Given the description of an element on the screen output the (x, y) to click on. 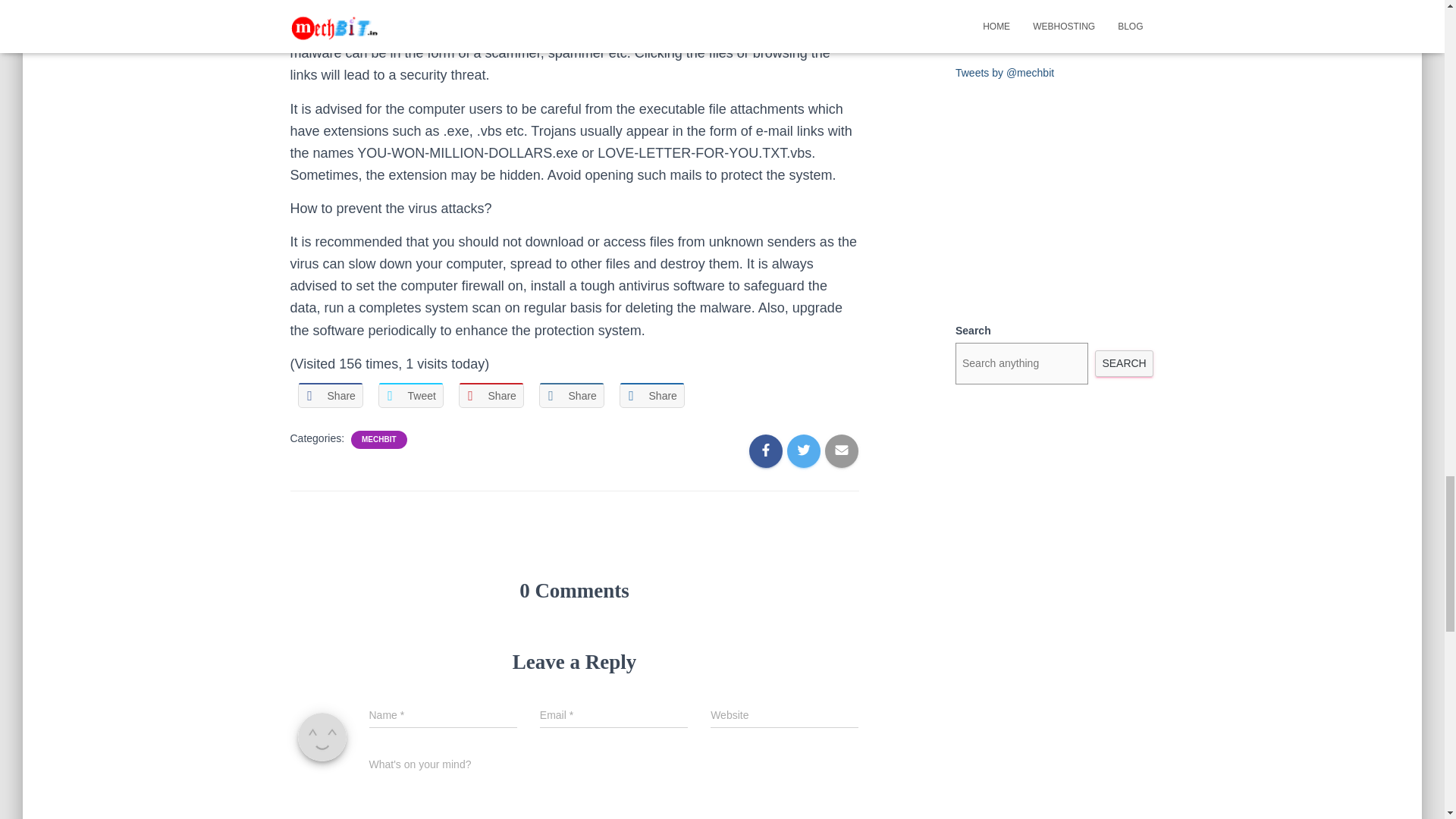
Share on Pinterest (490, 395)
SEARCH (1124, 363)
Share on Digg (651, 395)
Share on LinkedIn (571, 395)
Share on Facebook (329, 395)
Share (571, 395)
Share (490, 395)
Tweet (409, 395)
Share (329, 395)
MECHBIT (378, 439)
